Given the description of an element on the screen output the (x, y) to click on. 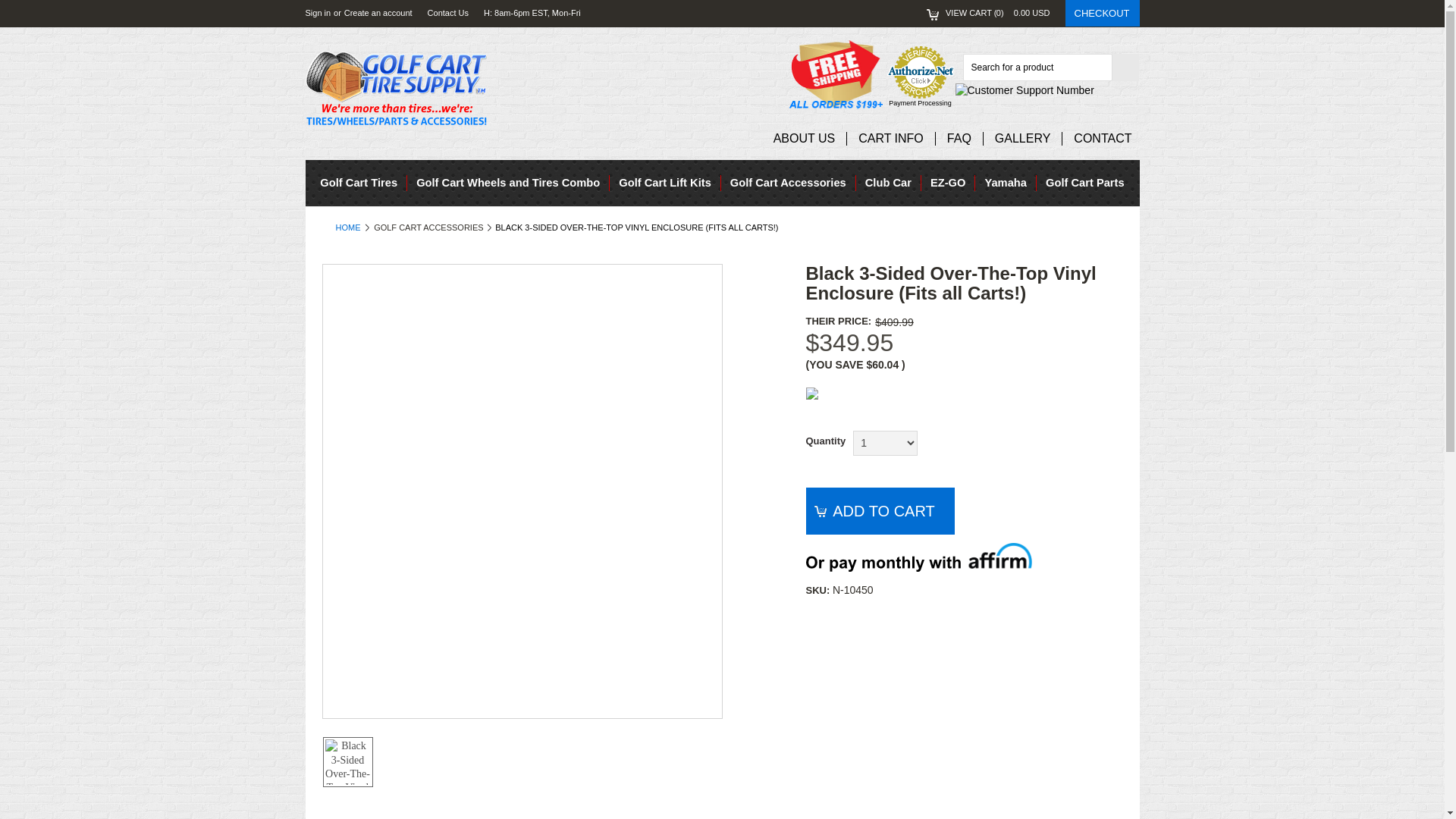
Payment Processing (920, 103)
Contact Us (448, 13)
CART INFO (890, 138)
Add to Cart (879, 510)
VIEW CART 0 0.00 USD (987, 13)
Golf Cart Tire Supply (395, 87)
CHECKOUT (1102, 13)
Search (1125, 67)
Sign in (317, 13)
Create an account (377, 13)
ABOUT US (804, 138)
